Given the description of an element on the screen output the (x, y) to click on. 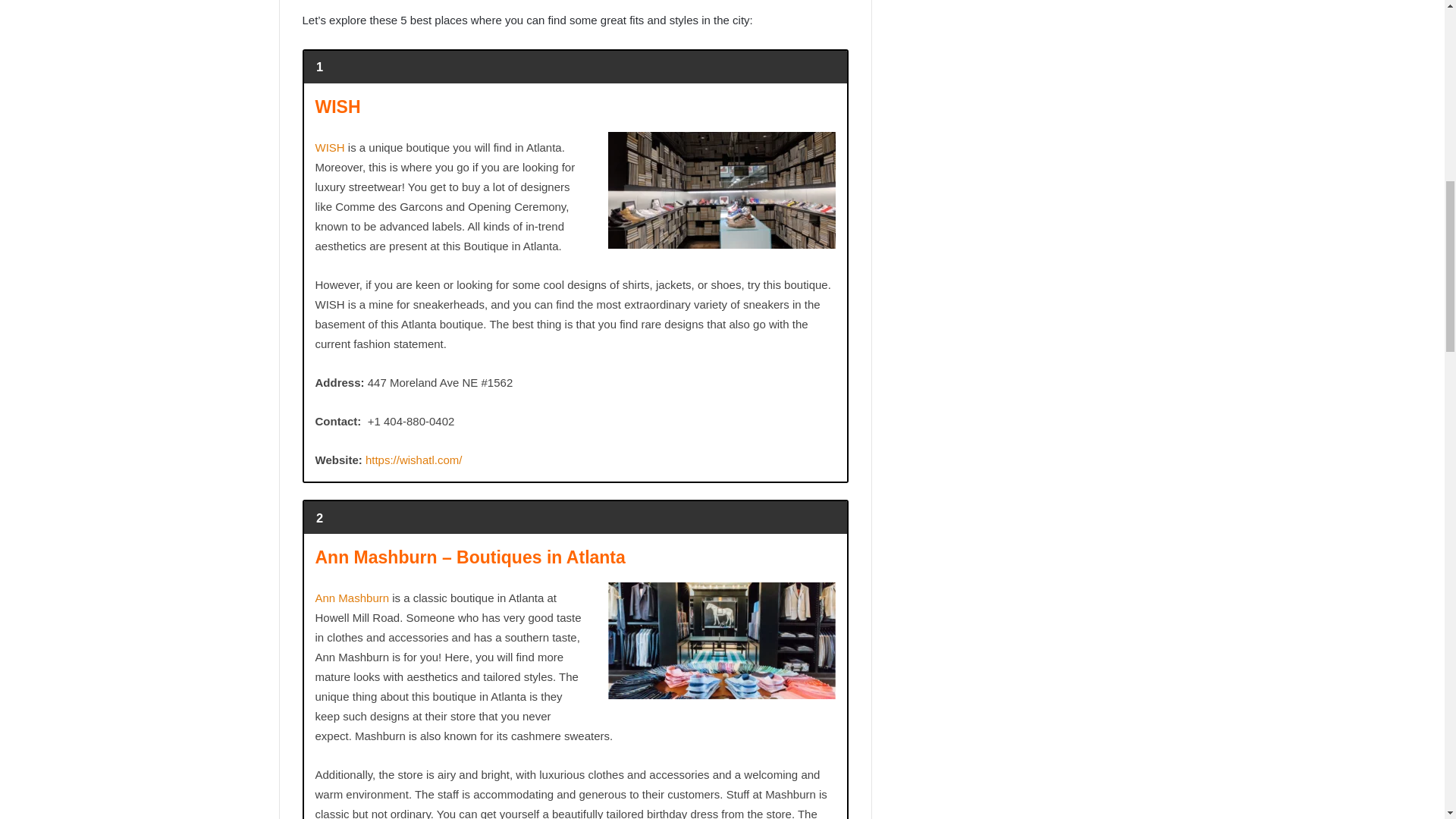
WISH (330, 146)
Ann Mashburn (352, 597)
